Given the description of an element on the screen output the (x, y) to click on. 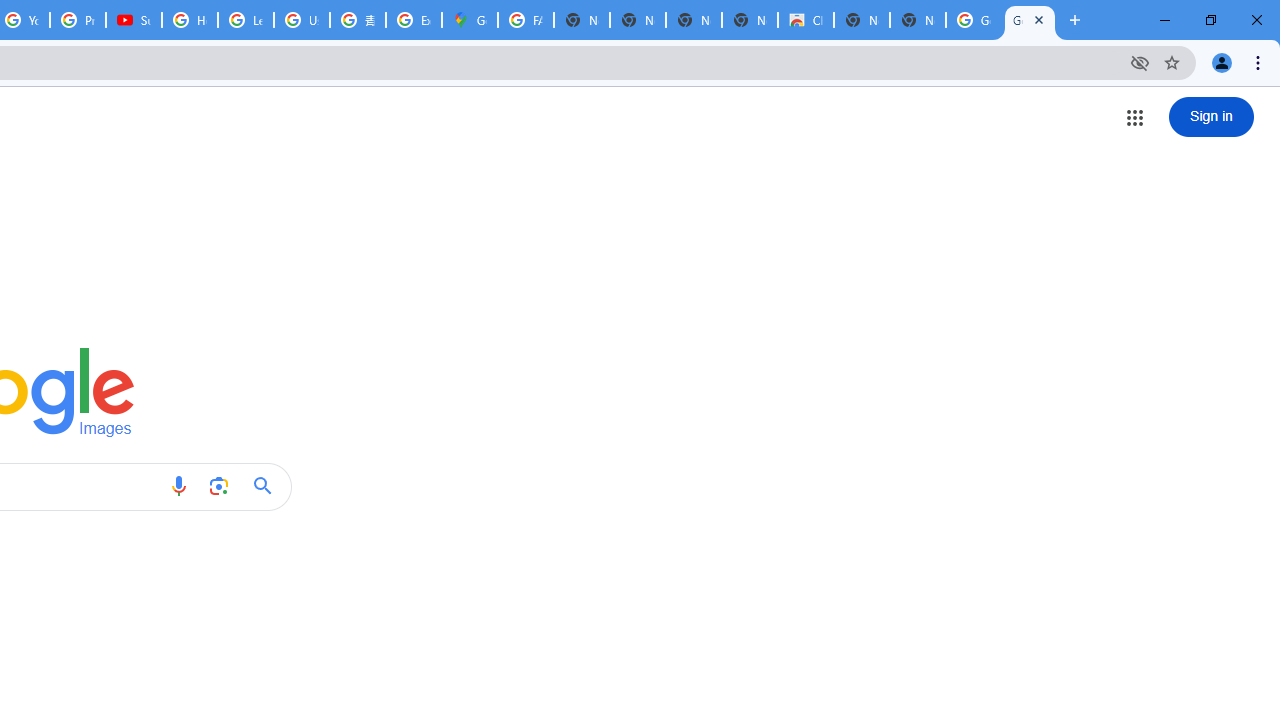
Explore new street-level details - Google Maps Help (413, 20)
Google Images (973, 20)
Chrome Web Store (806, 20)
How Chrome protects your passwords - Google Chrome Help (189, 20)
New Tab (917, 20)
Google Search (268, 485)
Google Maps (469, 20)
Subscriptions - YouTube (134, 20)
